Given the description of an element on the screen output the (x, y) to click on. 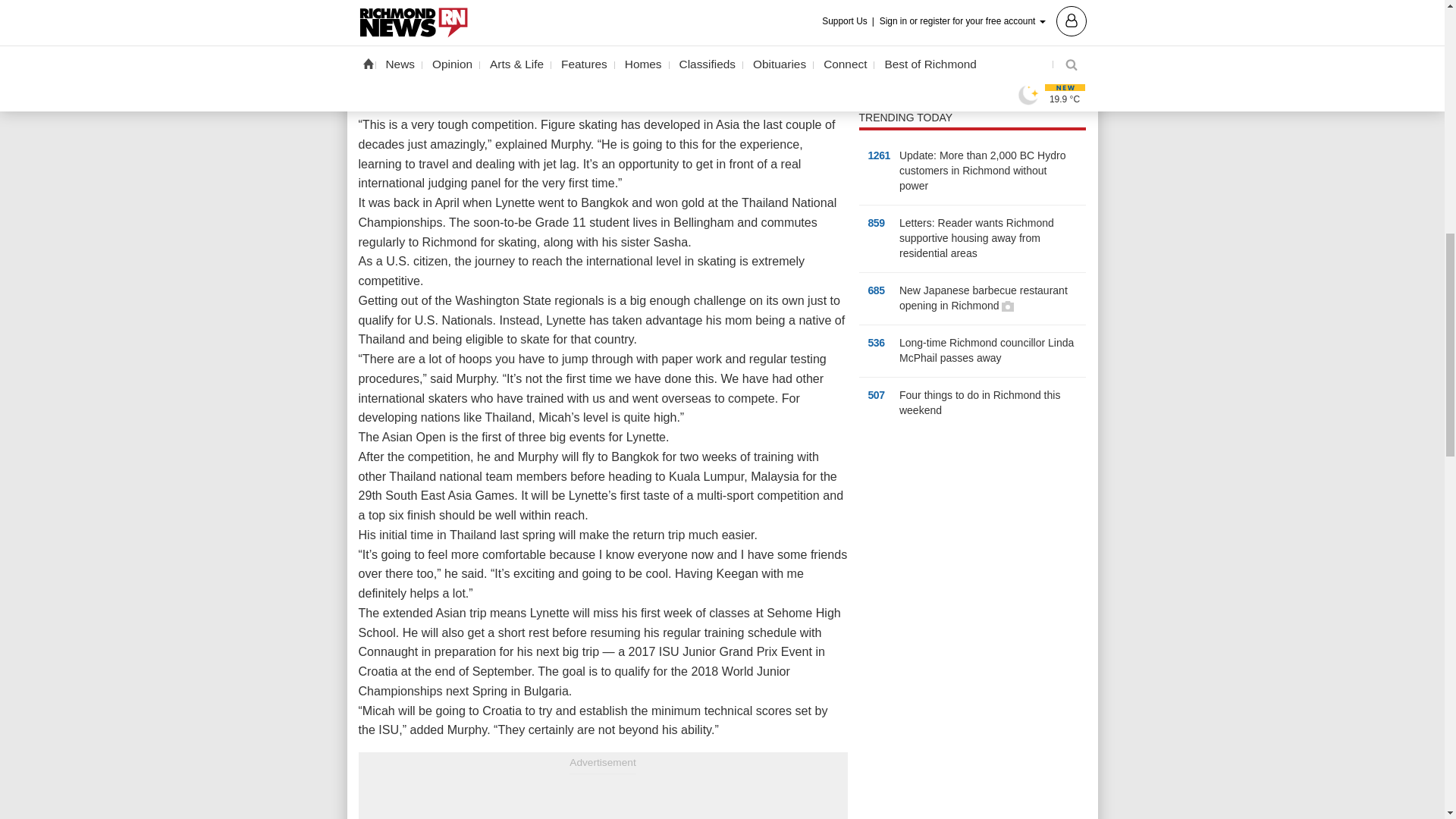
121759 (872, 31)
121758 (872, 10)
Has a gallery (1007, 306)
